Given the description of an element on the screen output the (x, y) to click on. 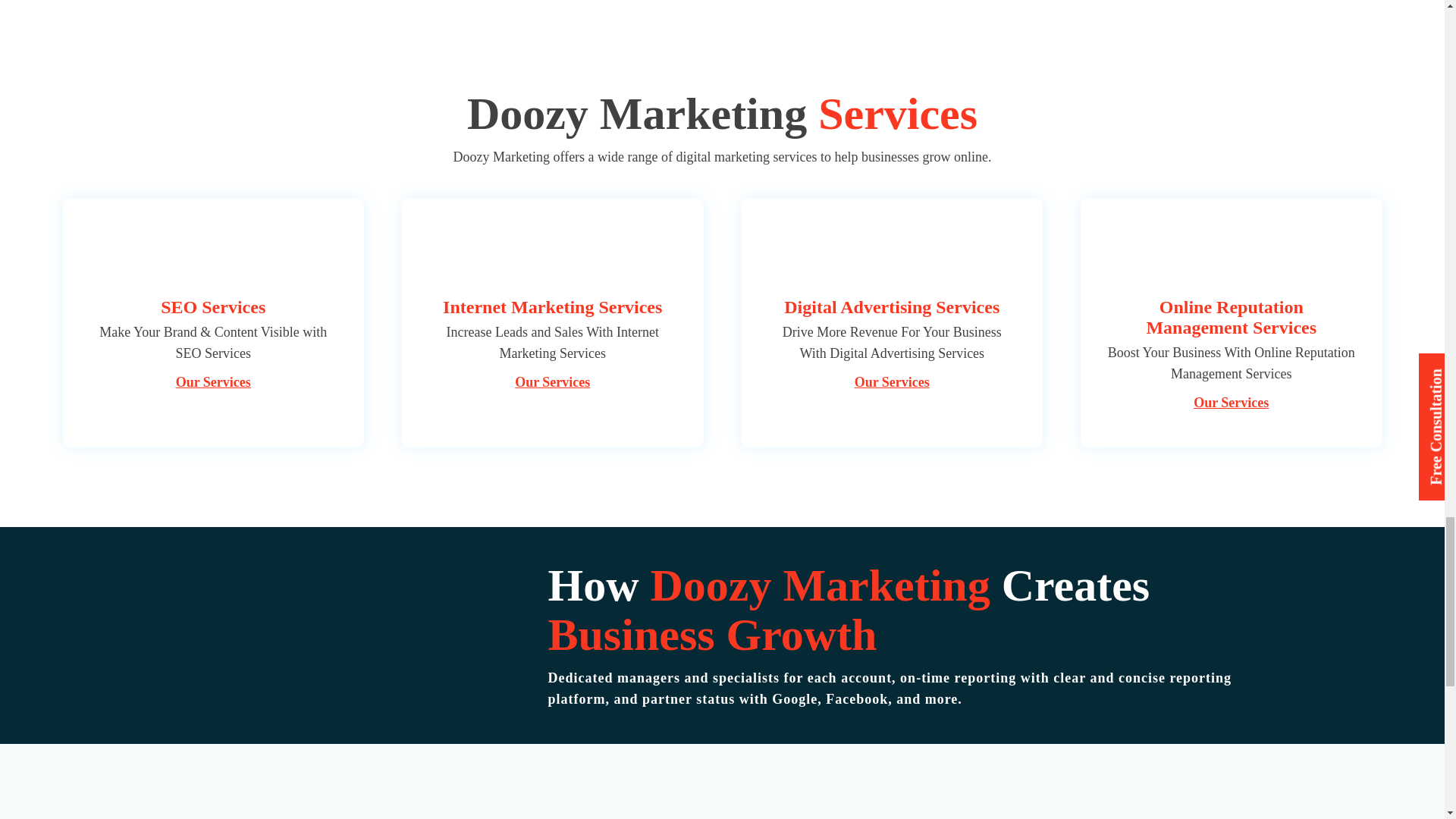
Seo (213, 251)
internet-marketing (552, 251)
Online-Reputation-Management (1231, 251)
growth-img (319, 625)
Digital-Advertising (891, 251)
